Given the description of an element on the screen output the (x, y) to click on. 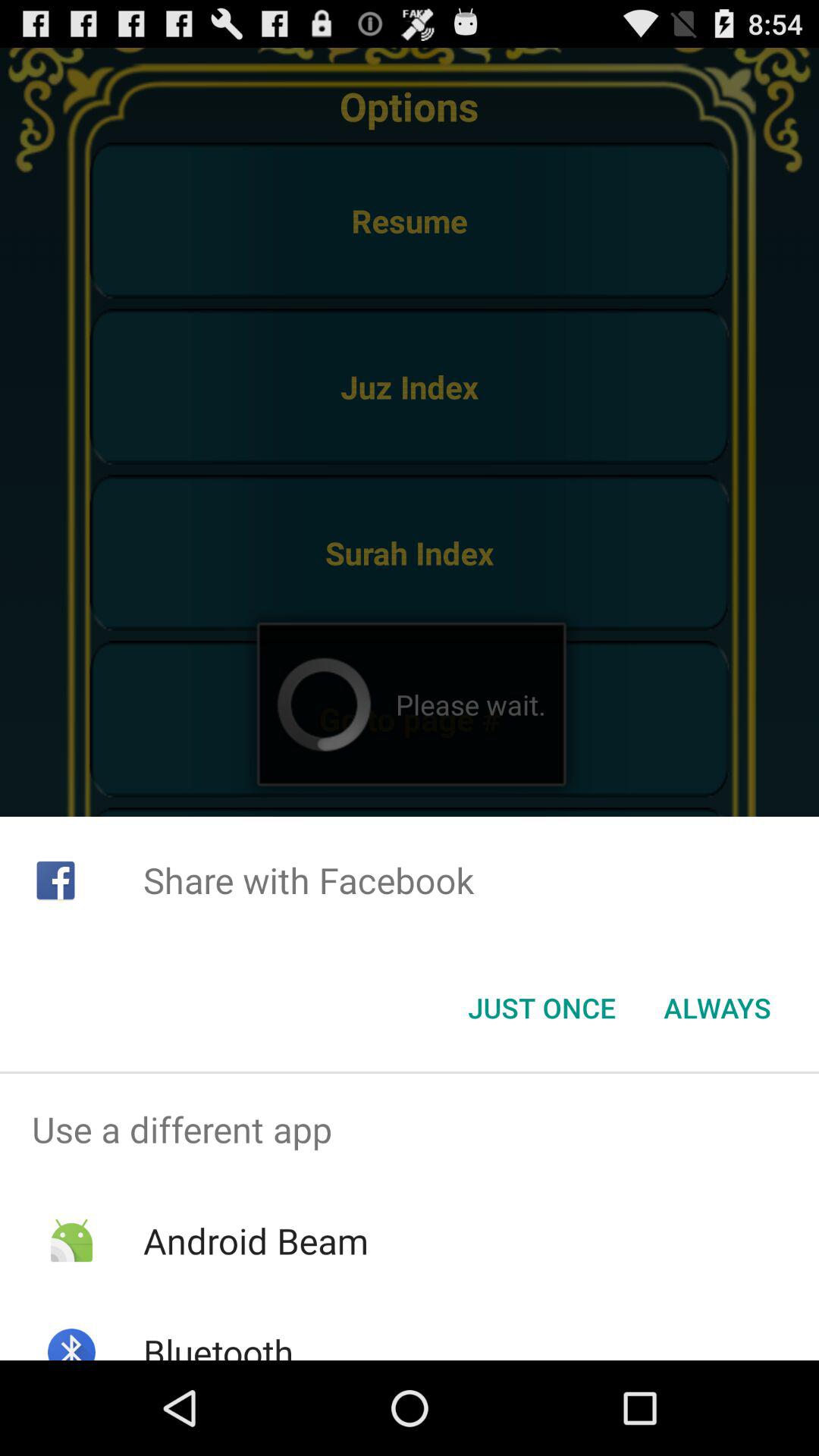
open item above the bluetooth app (255, 1240)
